Given the description of an element on the screen output the (x, y) to click on. 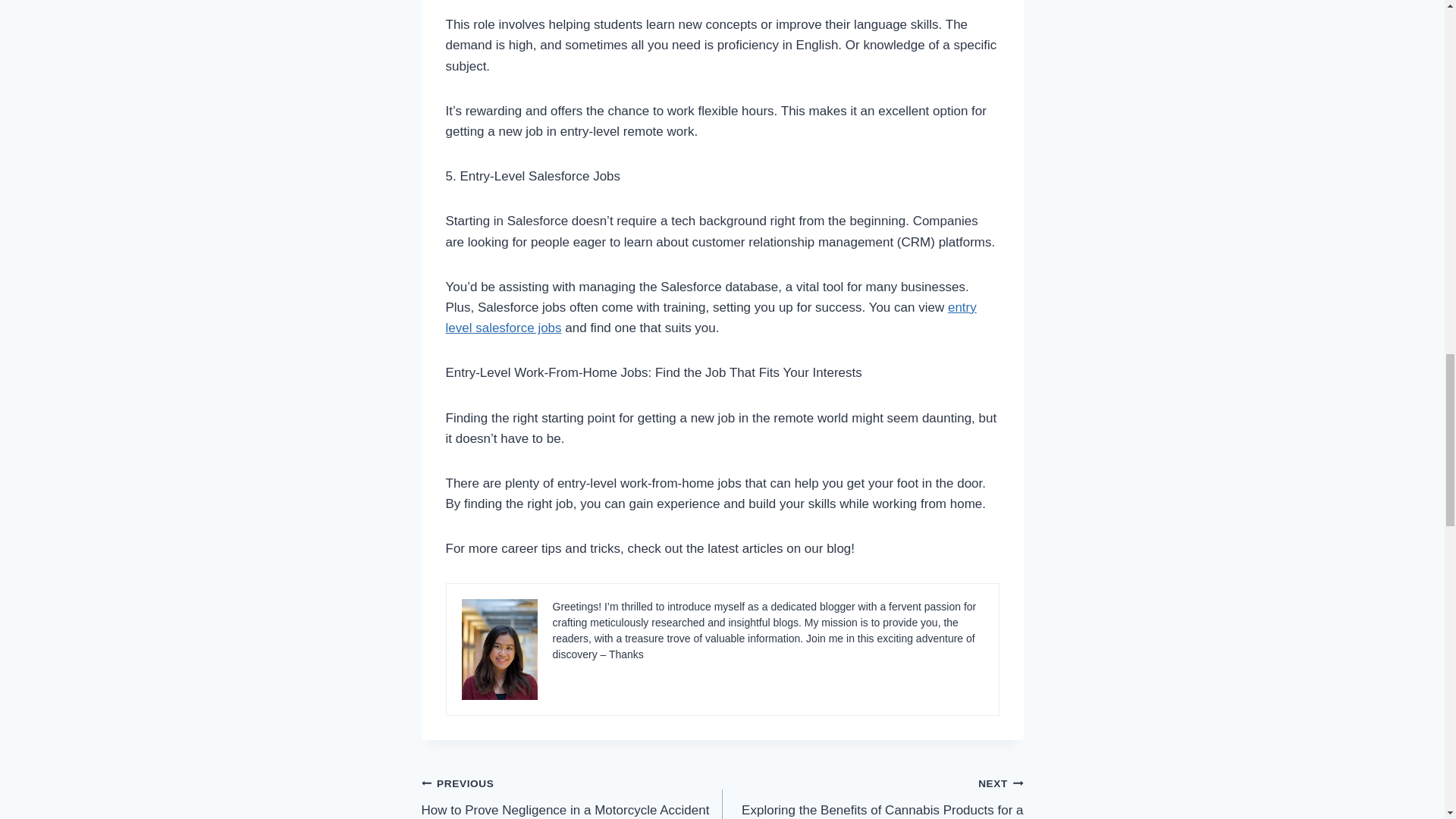
entry level salesforce jobs (710, 317)
